Given the description of an element on the screen output the (x, y) to click on. 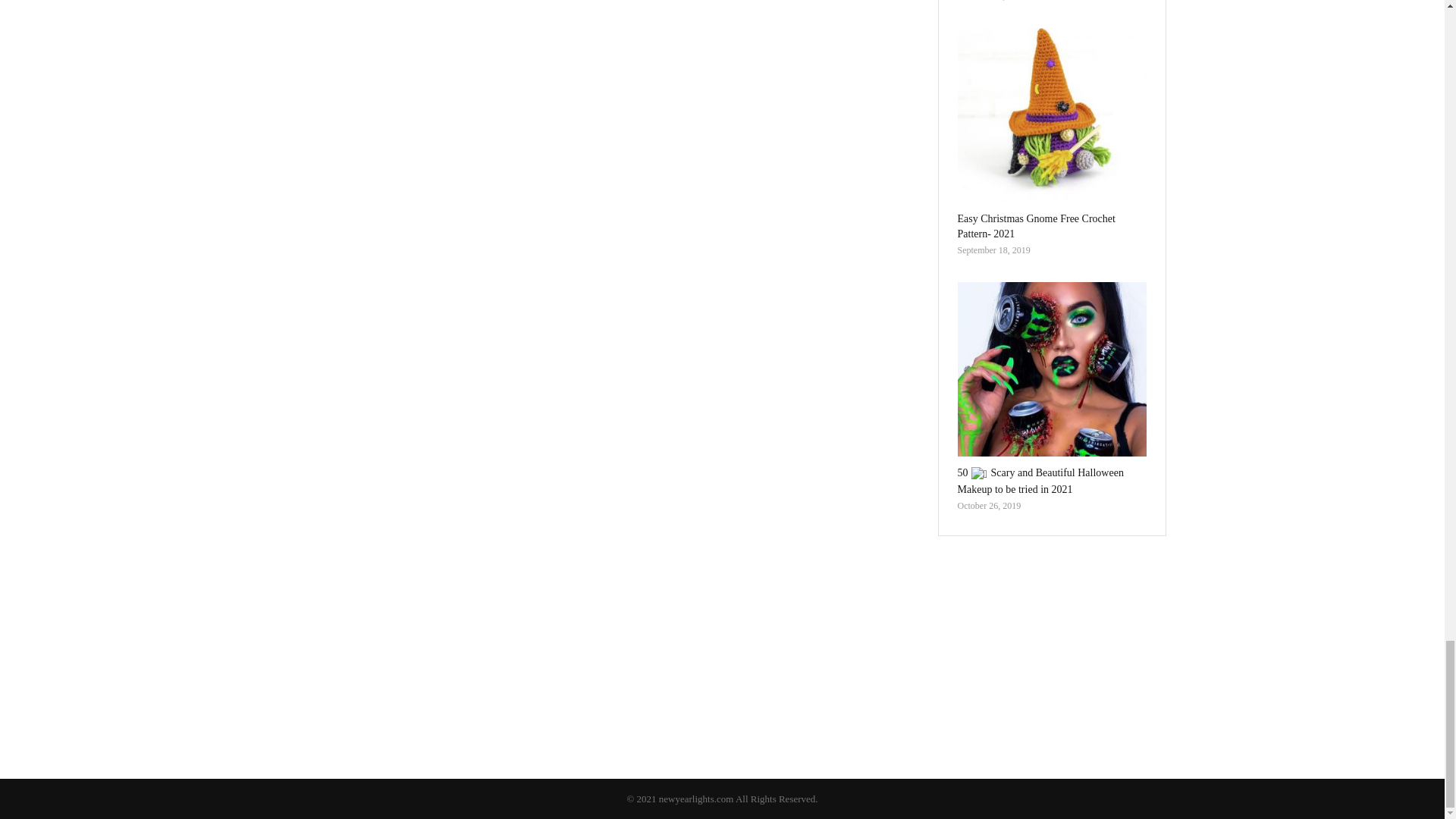
Easy Christmas Gnome Free Crochet Pattern- 2021 (1050, 114)
Easy Christmas Gnome Free Crochet Pattern- 2021 (1035, 225)
